Given the description of an element on the screen output the (x, y) to click on. 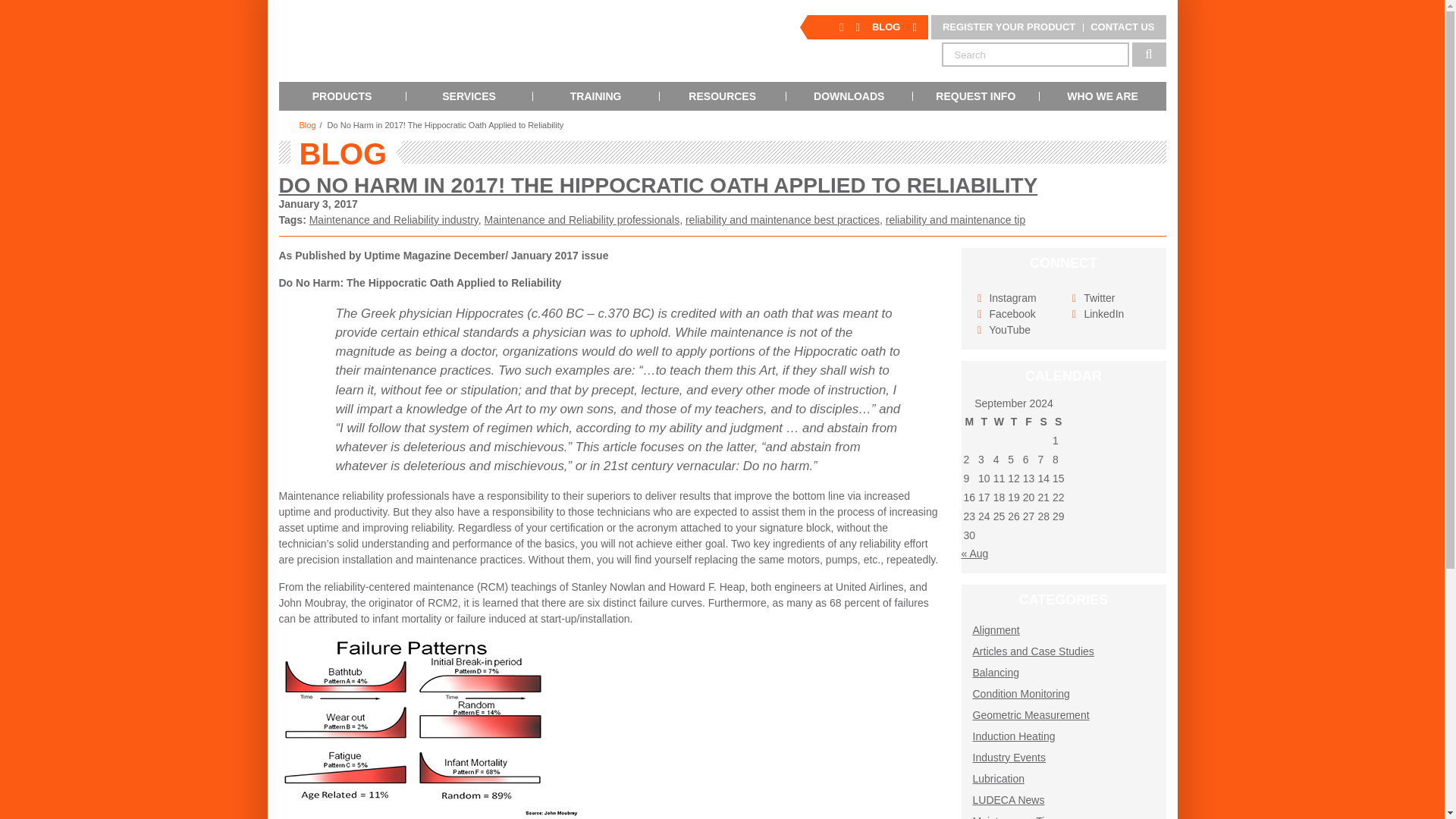
SERVICES (469, 95)
TRAINING (595, 95)
BLOG (886, 27)
PRODUCTS (342, 95)
